Given the description of an element on the screen output the (x, y) to click on. 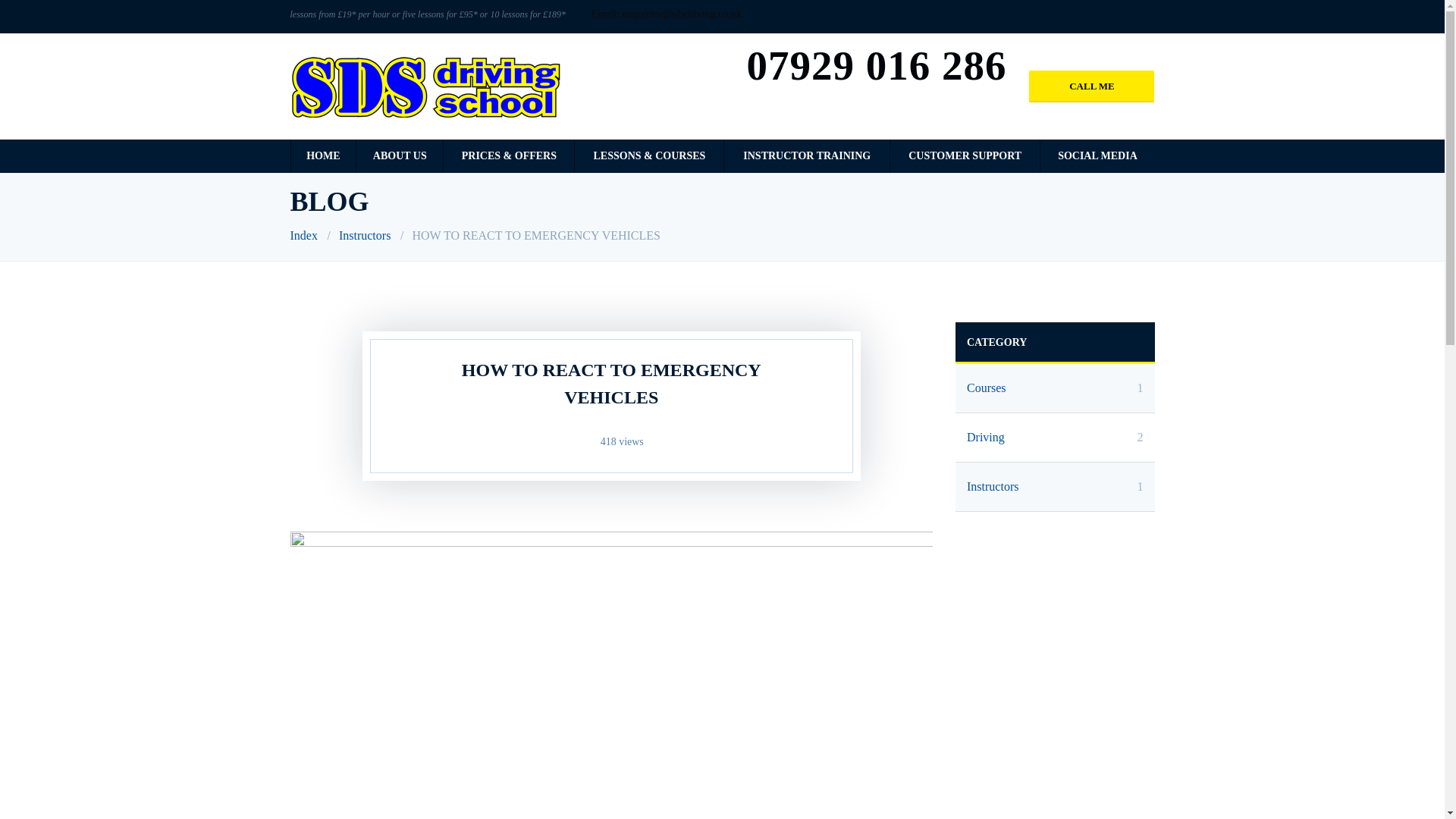
CUSTOMER SUPPORT (964, 155)
Index (303, 235)
SOCIAL MEDIA (1054, 486)
ABOUT US (1097, 155)
Instructors (399, 155)
CALL ME (1054, 388)
INSTRUCTOR TRAINING (364, 235)
